Given the description of an element on the screen output the (x, y) to click on. 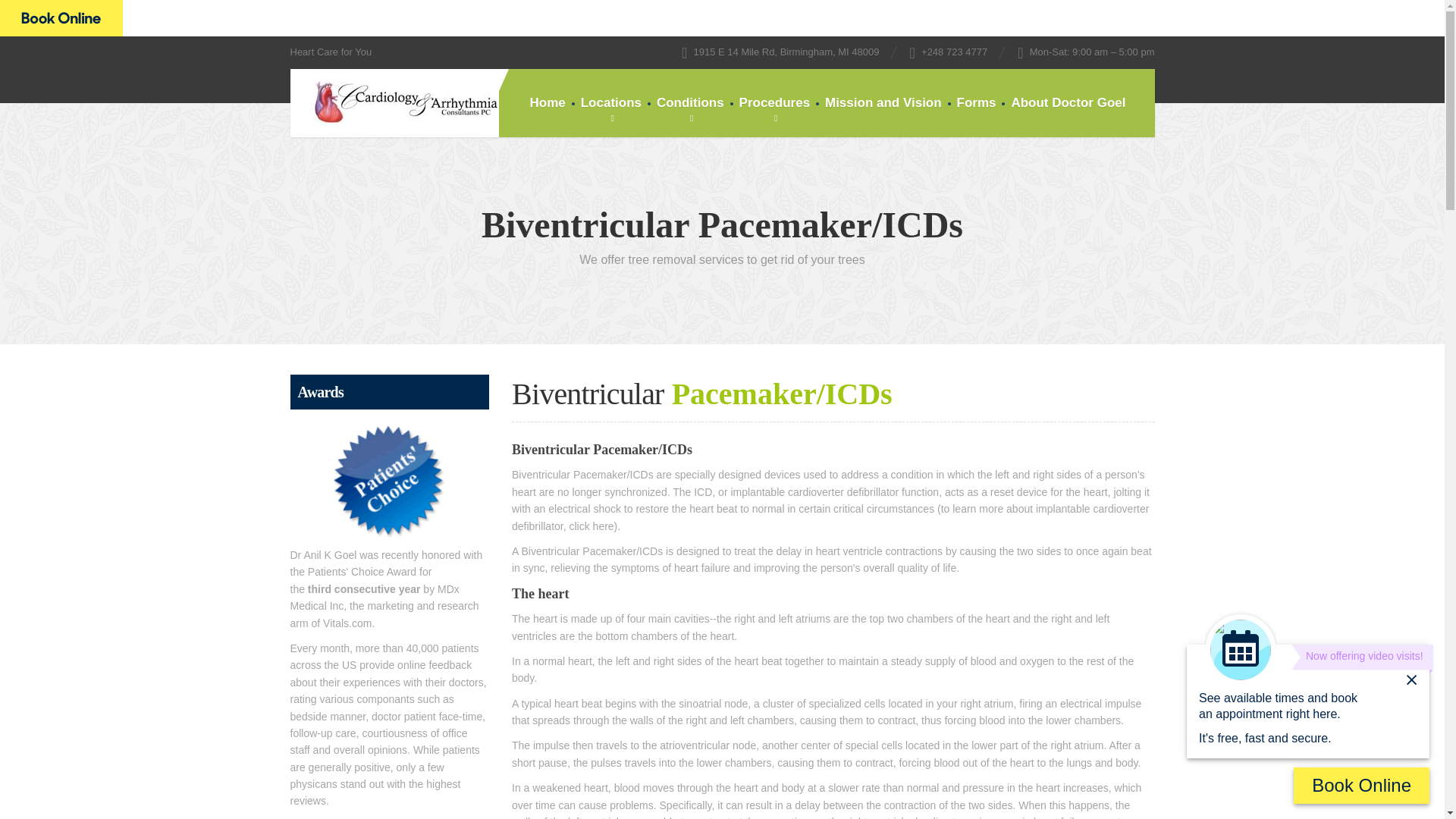
Locations (611, 102)
Mission and Vision (882, 102)
Heart Care for you. (393, 102)
cardiology and arrhythmia consultants (61, 18)
Procedures (774, 102)
Conditions (690, 102)
About Doctor Goel (1067, 102)
Now offering video visits! (1362, 658)
